Given the description of an element on the screen output the (x, y) to click on. 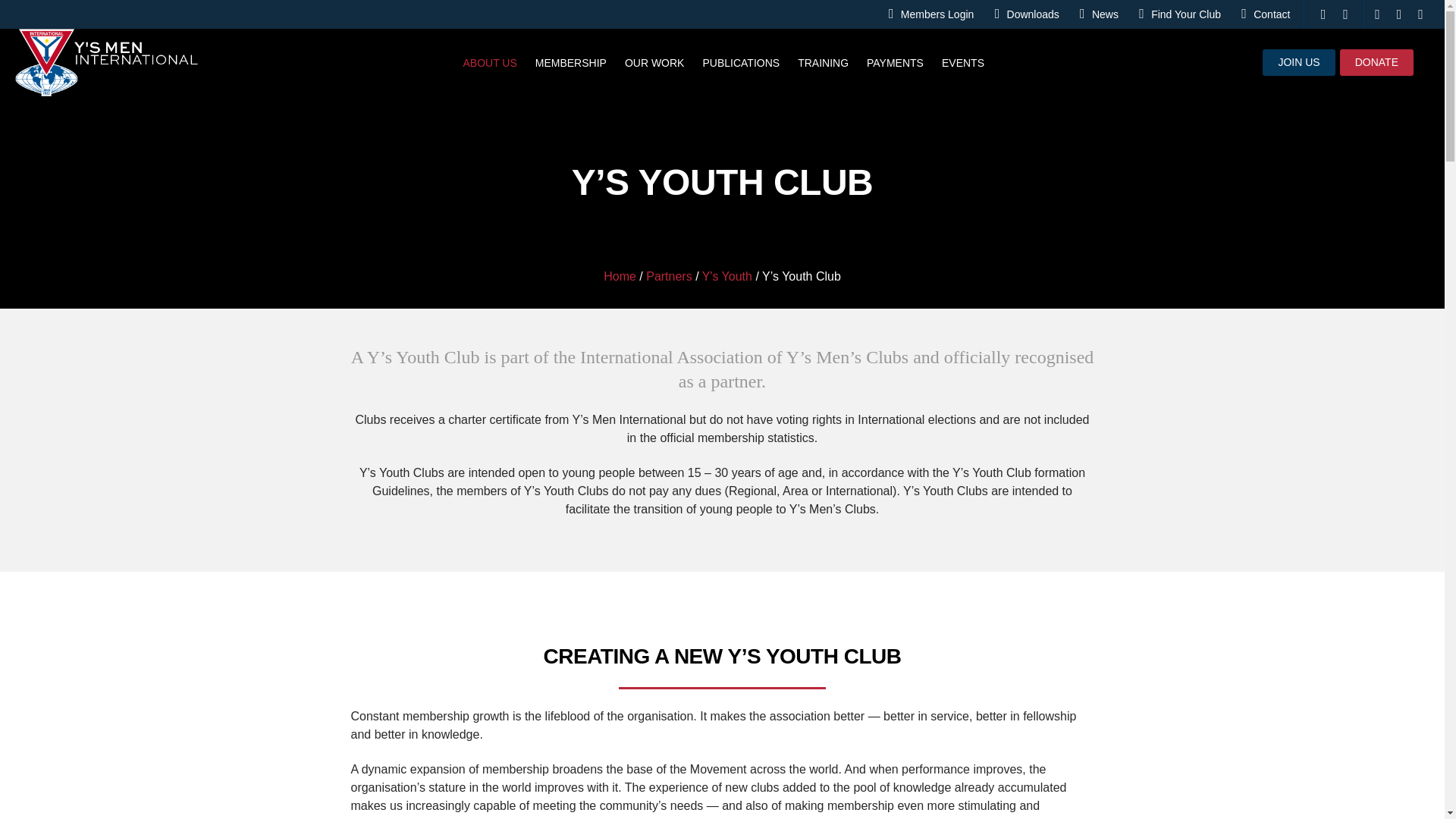
News (1102, 13)
Youtube (1419, 14)
Facebook (1377, 14)
DONATE (1376, 62)
MEMBERSHIP (570, 62)
Find Your Club (1183, 13)
Downloads (1029, 13)
Instagram (1398, 14)
JOIN US (1298, 62)
Contact (1268, 13)
